Given the description of an element on the screen output the (x, y) to click on. 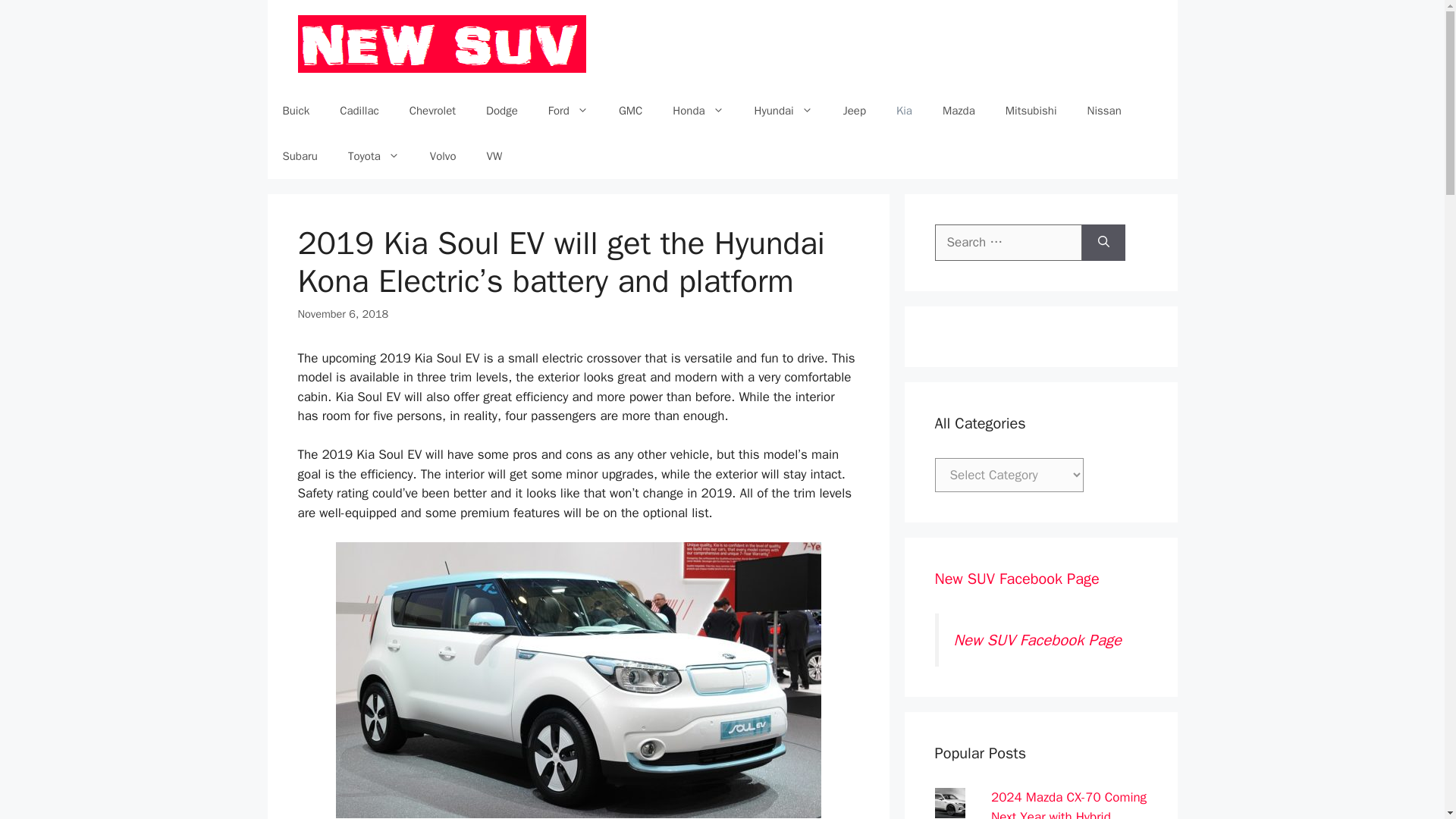
Nissan (1104, 110)
Jeep (854, 110)
GMC (631, 110)
Ford (568, 110)
Mazda (958, 110)
Mitsubishi (1030, 110)
Chevrolet (432, 110)
Toyota (373, 156)
Cadillac (359, 110)
Honda (698, 110)
